Given the description of an element on the screen output the (x, y) to click on. 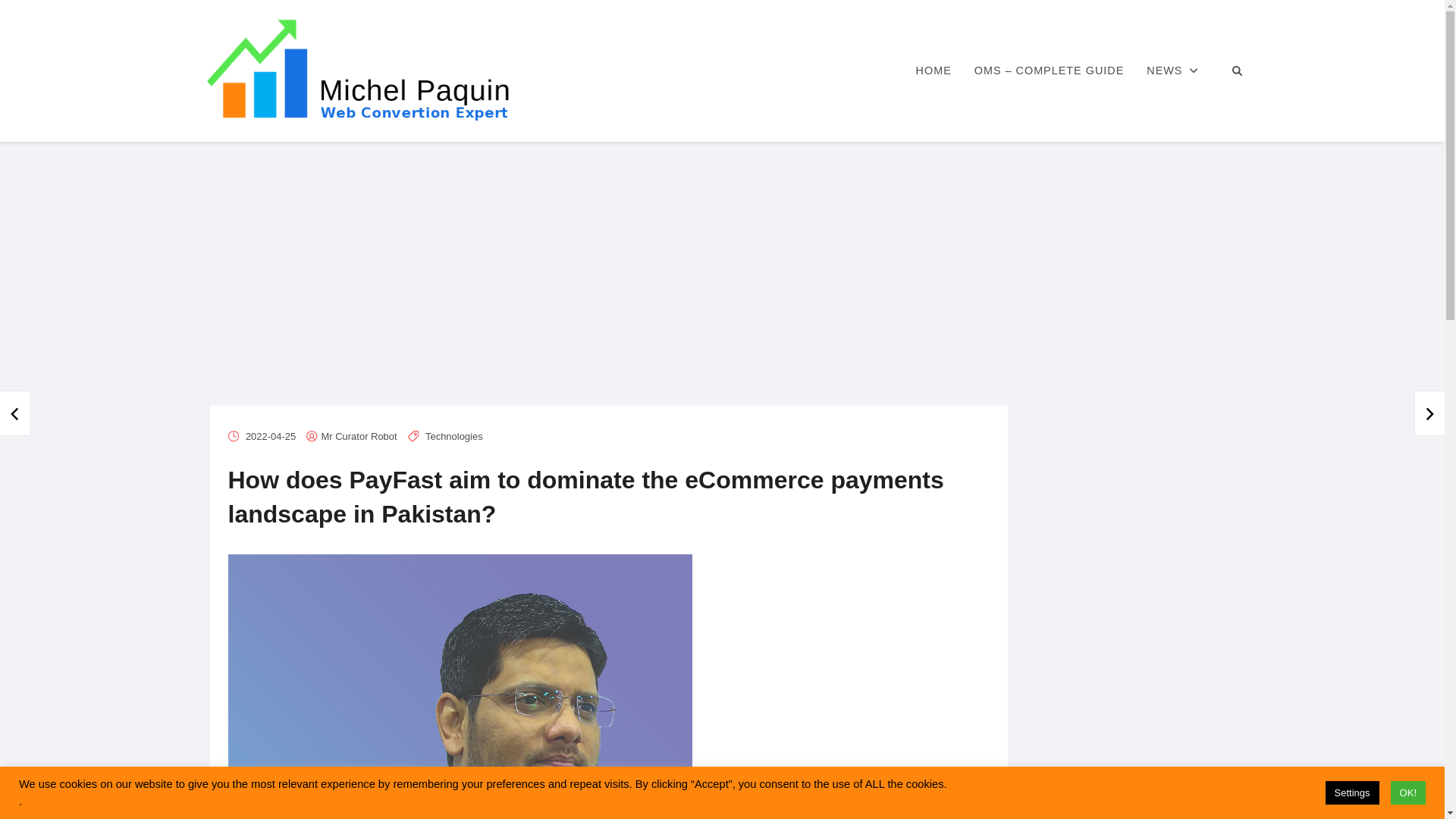
NEWS (1171, 70)
Settings (1351, 792)
2022-04-25 (270, 436)
Technologies (454, 436)
Mr Curator Robot (359, 436)
OK! (1407, 792)
HOME (933, 70)
